Given the description of an element on the screen output the (x, y) to click on. 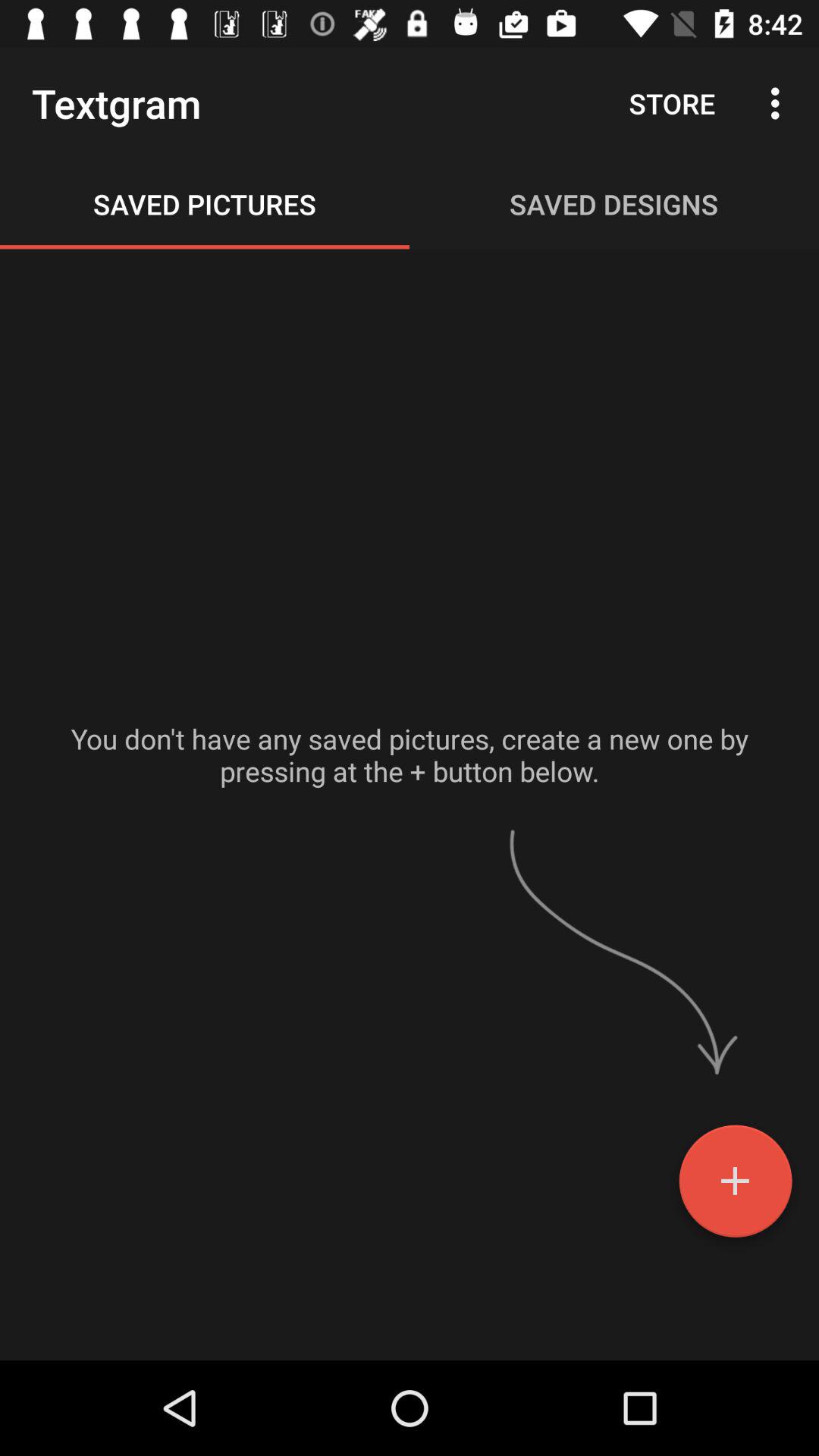
use plus symbol enclosed in a circle to add pictures to your textgram (735, 1186)
